Given the description of an element on the screen output the (x, y) to click on. 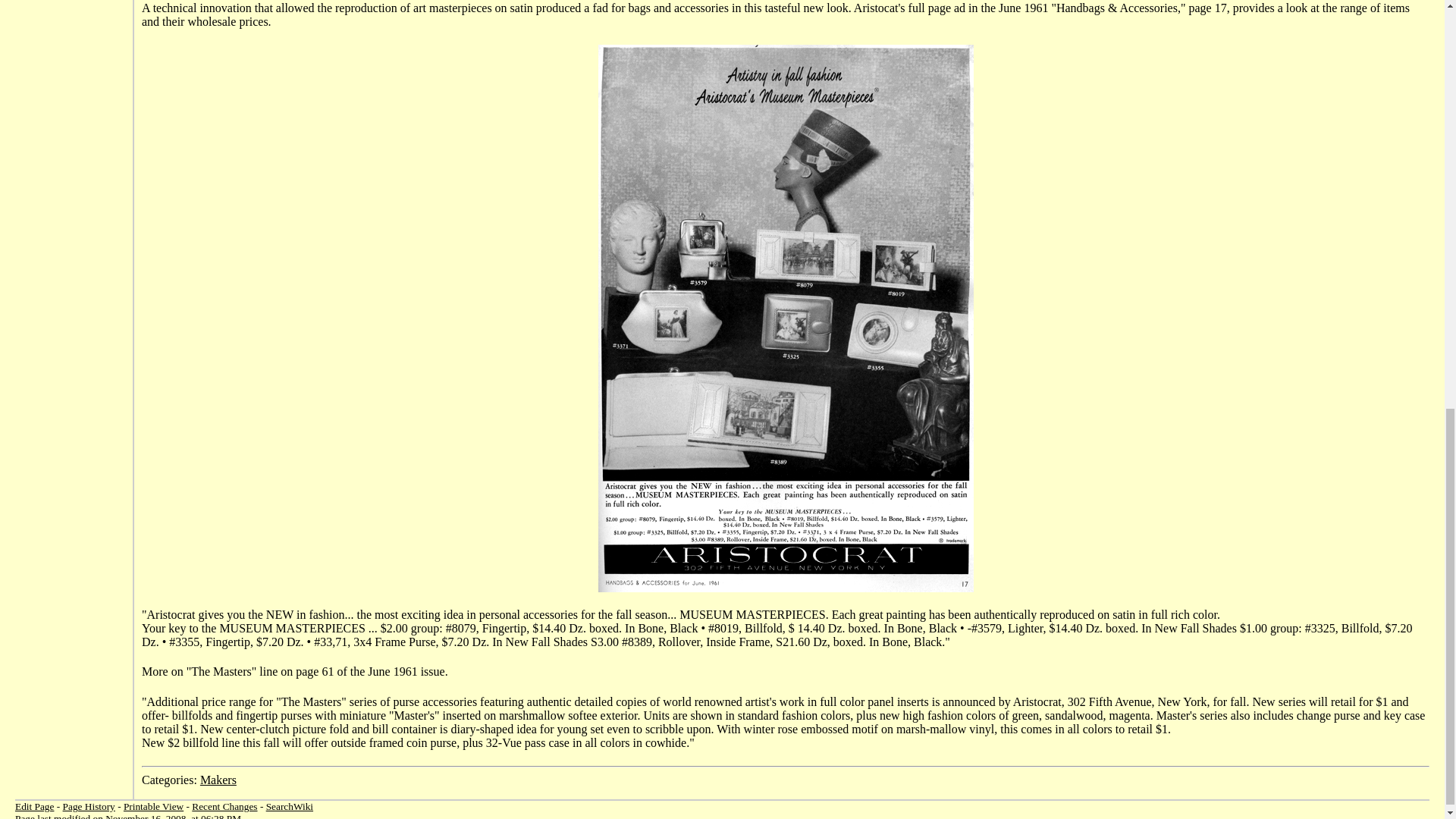
Printable View (153, 806)
Recent Changes (224, 806)
Makers (217, 779)
SearchWiki (289, 806)
Page History (88, 806)
Edit Page (33, 806)
